Given the description of an element on the screen output the (x, y) to click on. 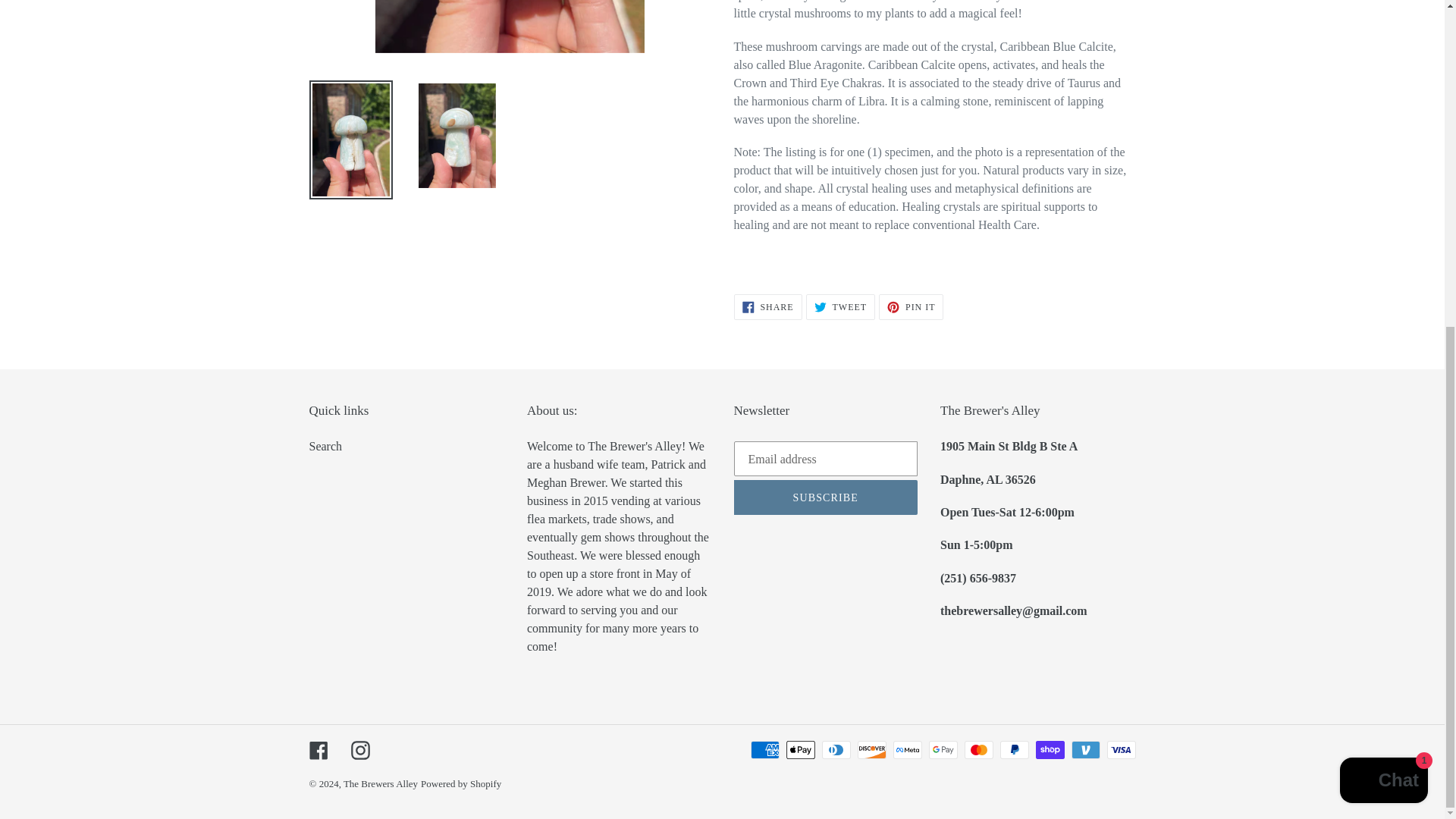
Shopify online store chat (1383, 245)
Instagram (359, 750)
The Brewers Alley (840, 307)
Search (380, 783)
Facebook (325, 445)
Powered by Shopify (767, 307)
SUBSCRIBE (318, 750)
